Given the description of an element on the screen output the (x, y) to click on. 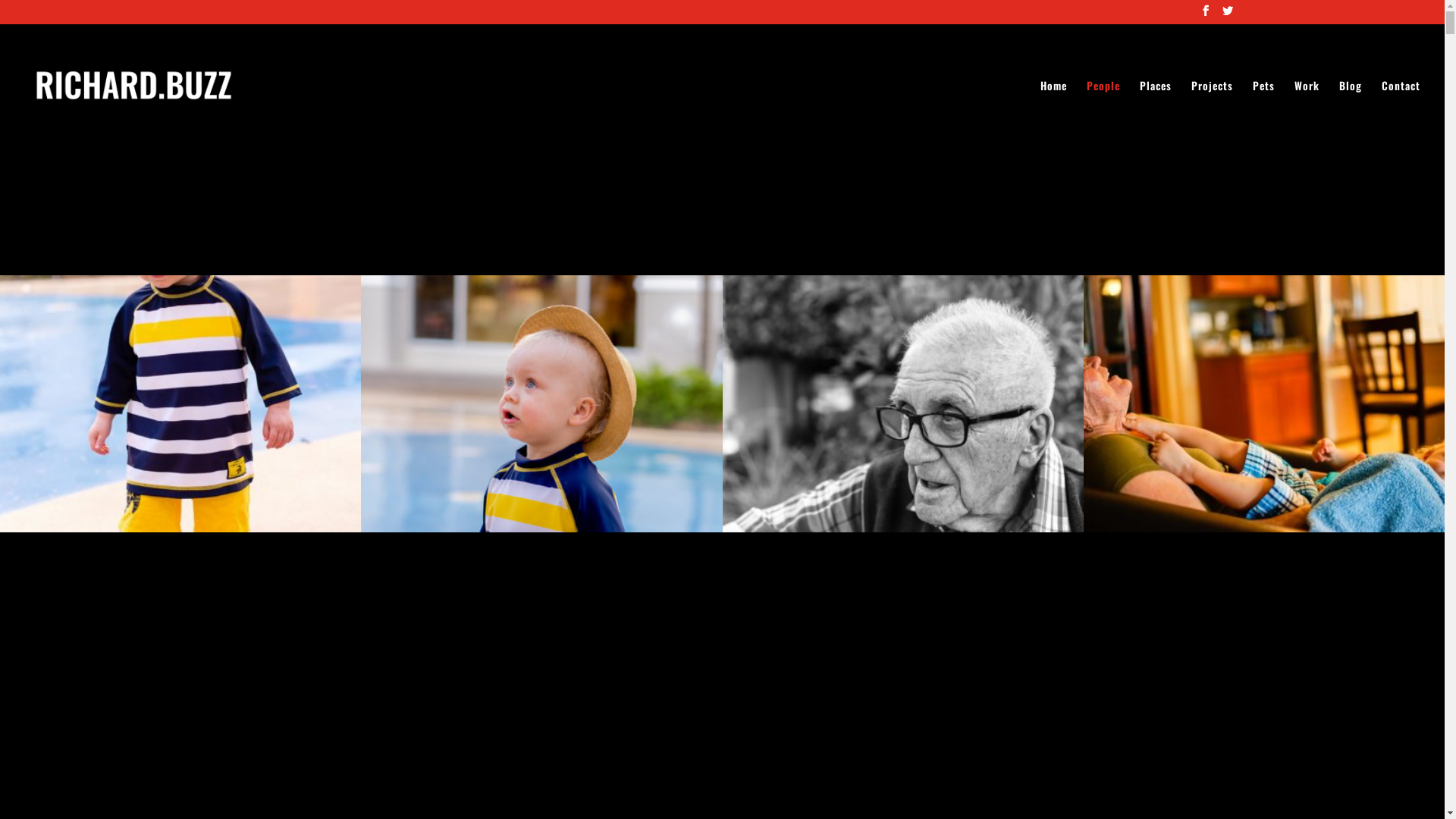
TheGalician Element type: hover (901, 527)
Contact Element type: text (1400, 113)
Sony-A7July-12-2014-5 Element type: hover (1263, 527)
littleboyblue Element type: hover (540, 527)
Home Element type: text (1053, 113)
Blog Element type: text (1350, 113)
Projects Element type: text (1212, 113)
Places Element type: text (1155, 113)
Work Element type: text (1306, 113)
People Element type: text (1103, 113)
littleboyblue2 Element type: hover (180, 527)
Pets Element type: text (1263, 113)
